Given the description of an element on the screen output the (x, y) to click on. 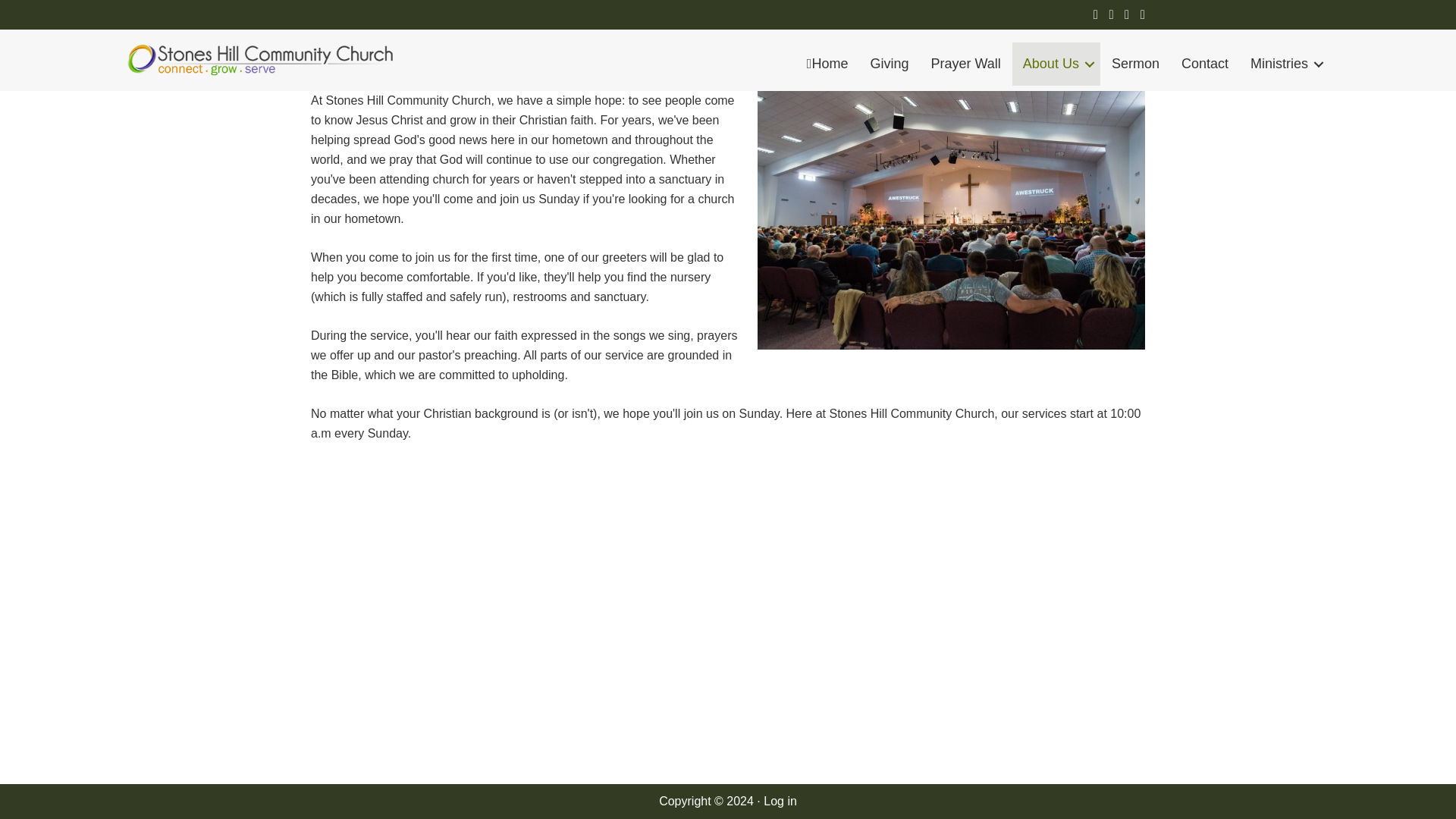
Log in (779, 800)
Home (827, 63)
About Us (1055, 63)
Giving (888, 63)
Contact (1204, 63)
Ministries (1284, 63)
Prayer Wall (965, 63)
Sermon (1135, 63)
